Given the description of an element on the screen output the (x, y) to click on. 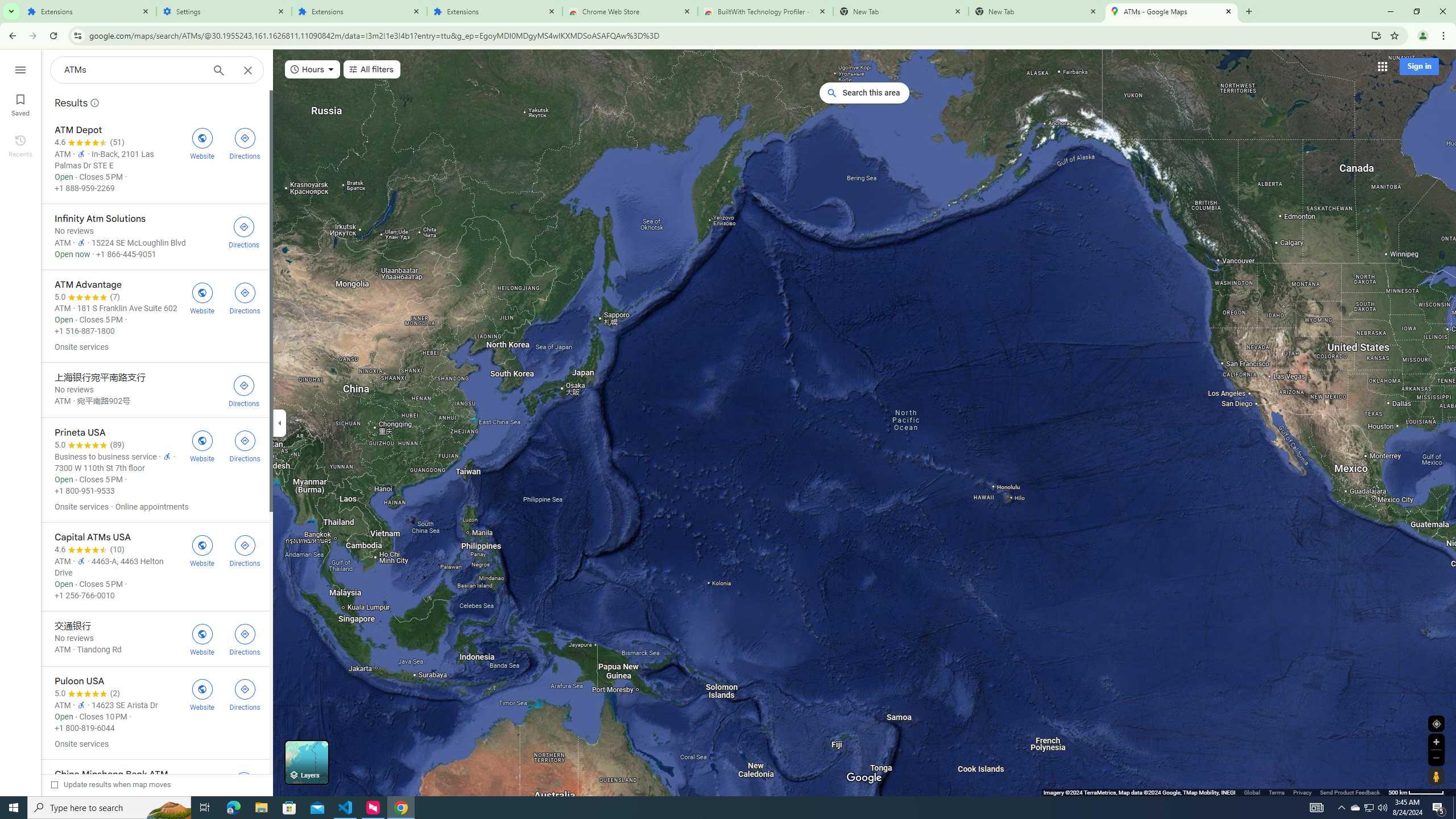
Extensions (494, 11)
Search this area (864, 92)
Collapse side panel (279, 422)
500 m (1416, 792)
Hours (312, 68)
Layers (306, 762)
Menu (20, 68)
Wheelchair accessible entrance (81, 704)
